Given the description of an element on the screen output the (x, y) to click on. 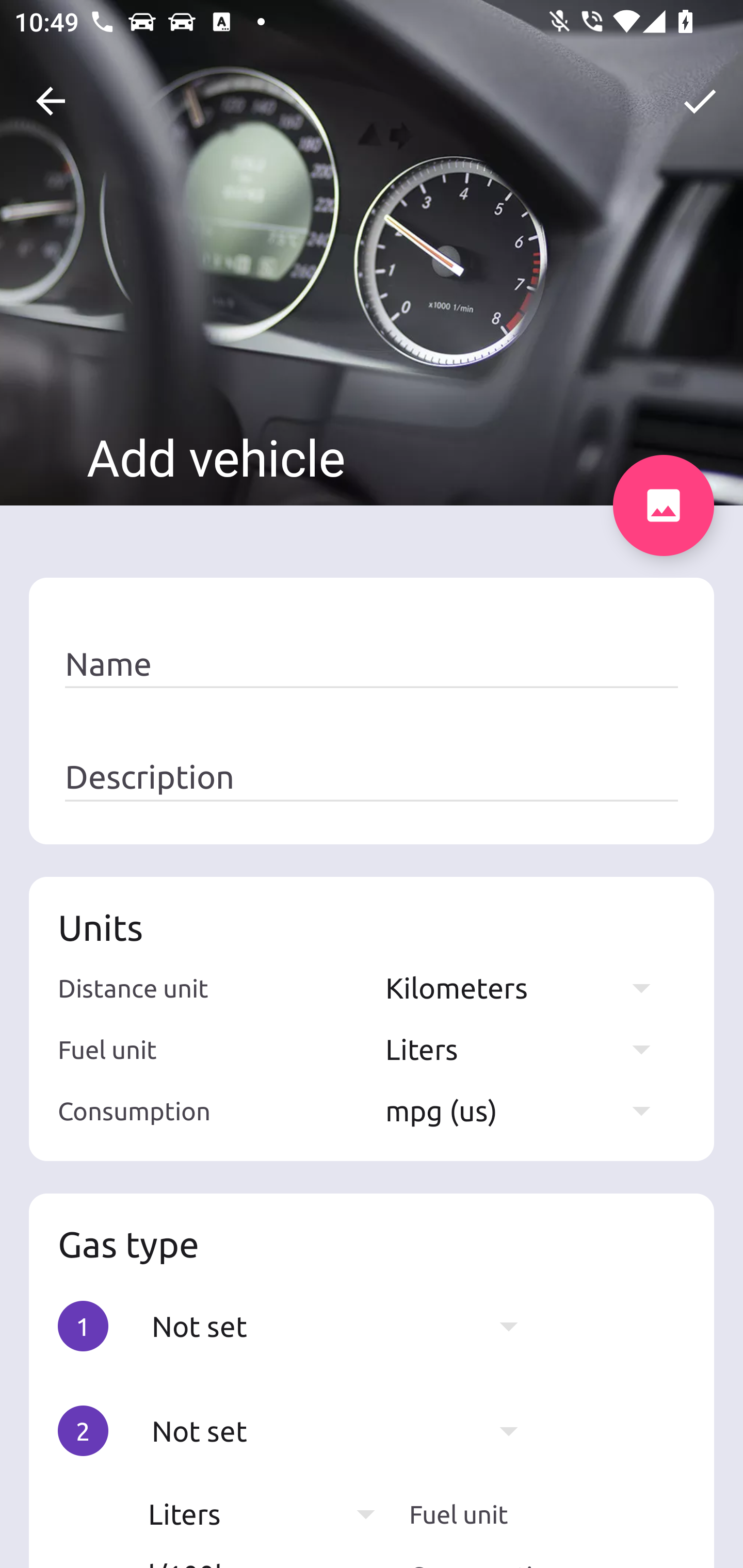
Navigate up (50, 101)
OK (699, 101)
Name (371, 664)
Description (371, 777)
Kilometers (527, 987)
Liters (527, 1048)
mpg (us) (527, 1110)
Not set (344, 1325)
Not set (344, 1430)
Liters (271, 1513)
